Given the description of an element on the screen output the (x, y) to click on. 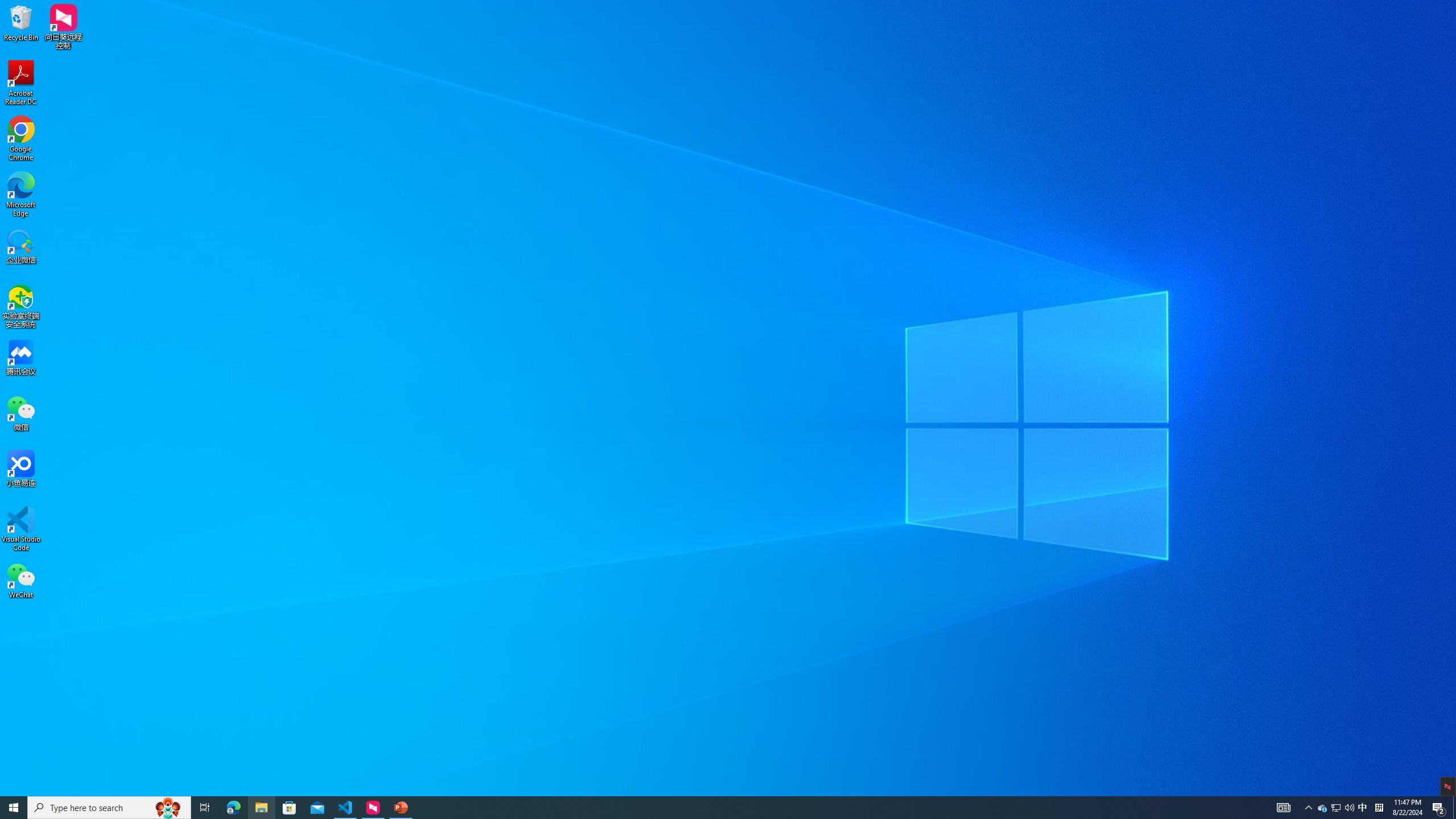
Layout (143, 44)
Paragraph... (526, 85)
